Given the description of an element on the screen output the (x, y) to click on. 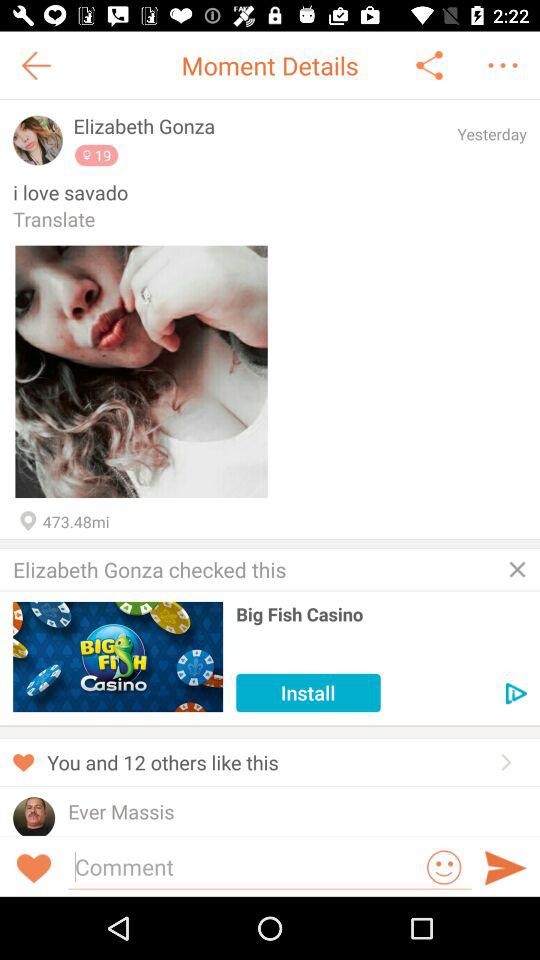
open the install icon (308, 692)
